Given the description of an element on the screen output the (x, y) to click on. 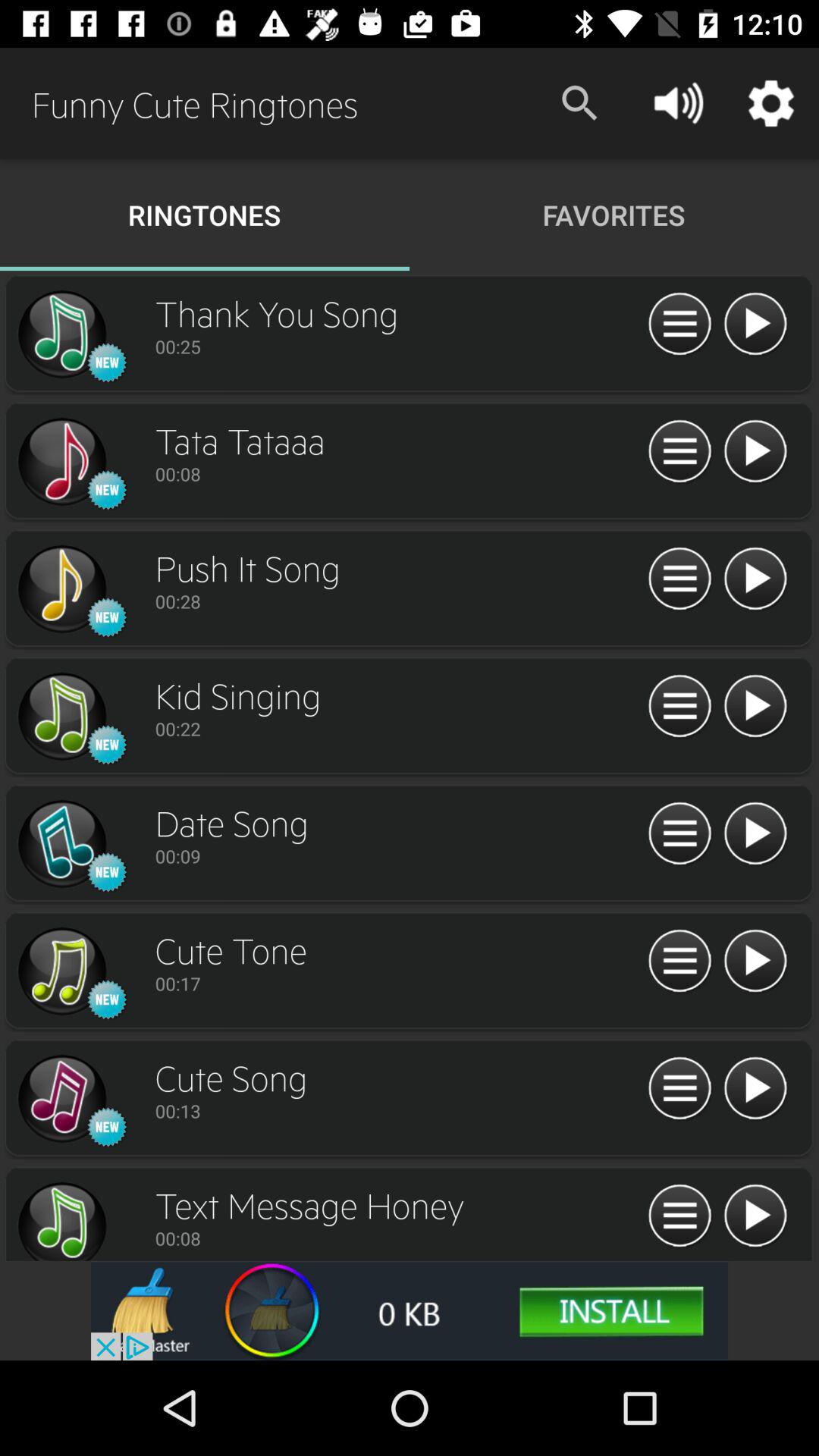
switch play option (755, 961)
